Given the description of an element on the screen output the (x, y) to click on. 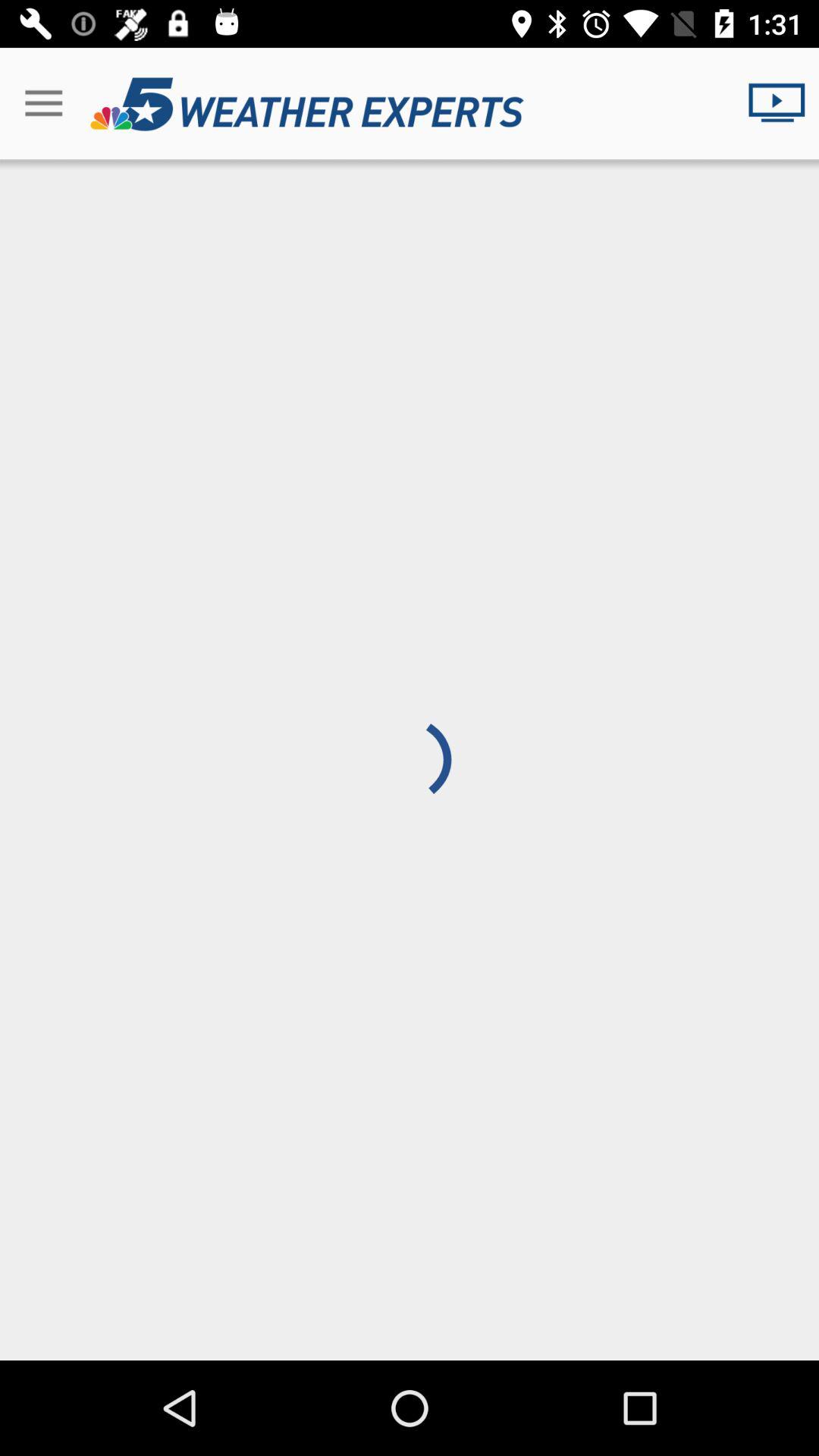
tap the icon at the top right corner (782, 103)
